Given the description of an element on the screen output the (x, y) to click on. 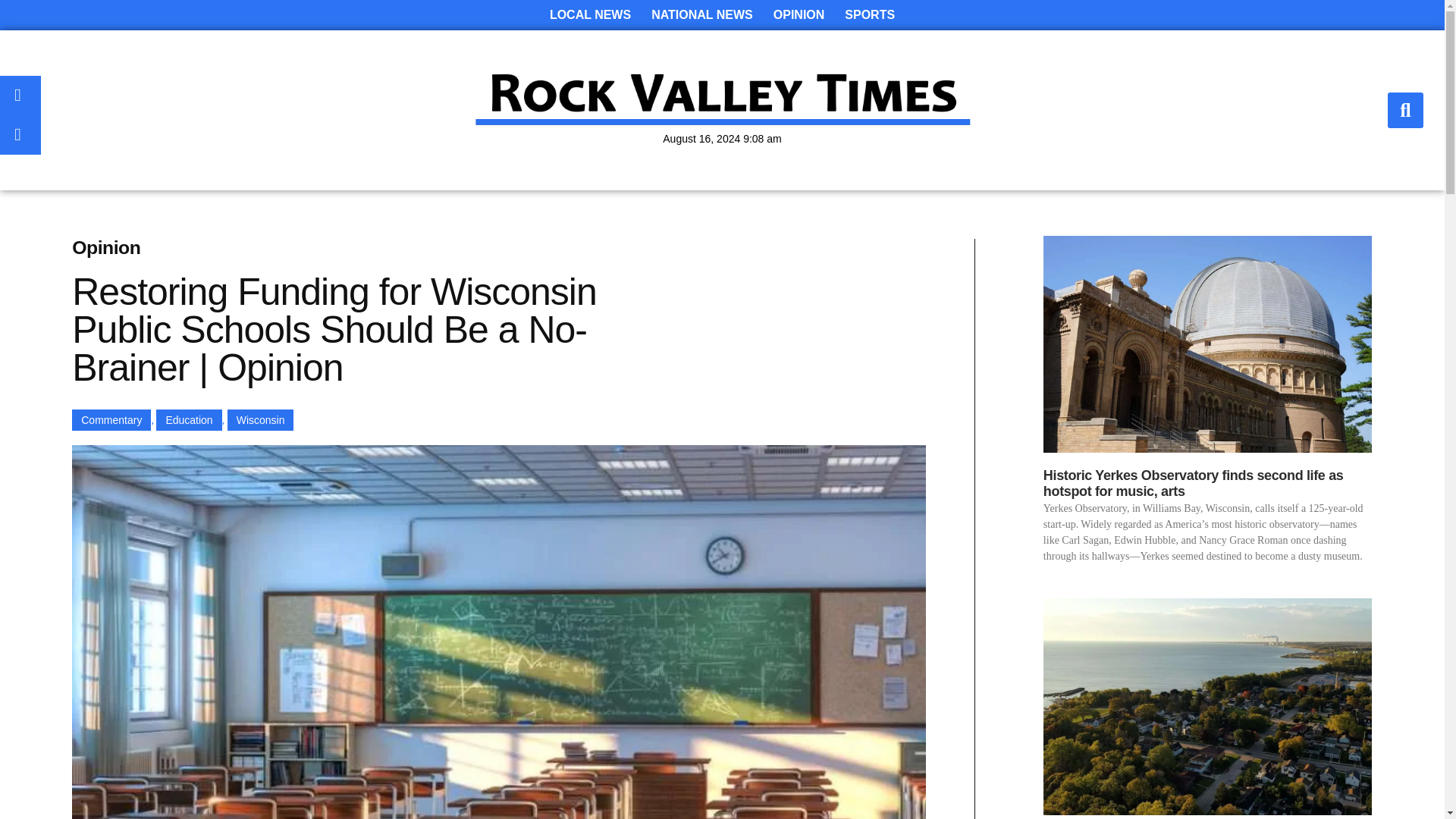
NATIONAL NEWS (701, 15)
LOCAL NEWS (590, 15)
Wisconsin (260, 419)
Education (188, 419)
Commentary (111, 419)
SPORTS (869, 15)
OPINION (798, 15)
